Given the description of an element on the screen output the (x, y) to click on. 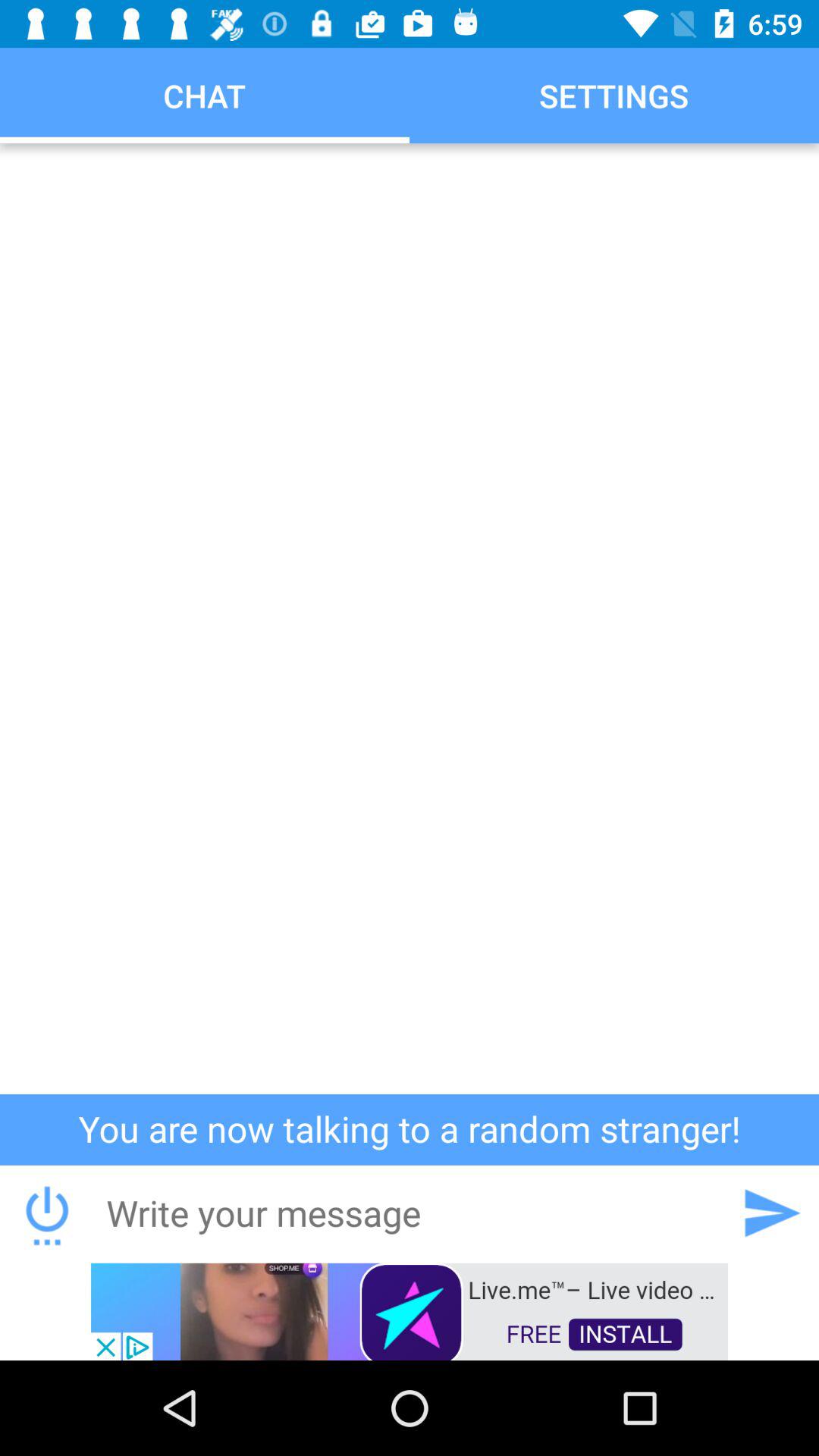
text box (409, 1212)
